Given the description of an element on the screen output the (x, y) to click on. 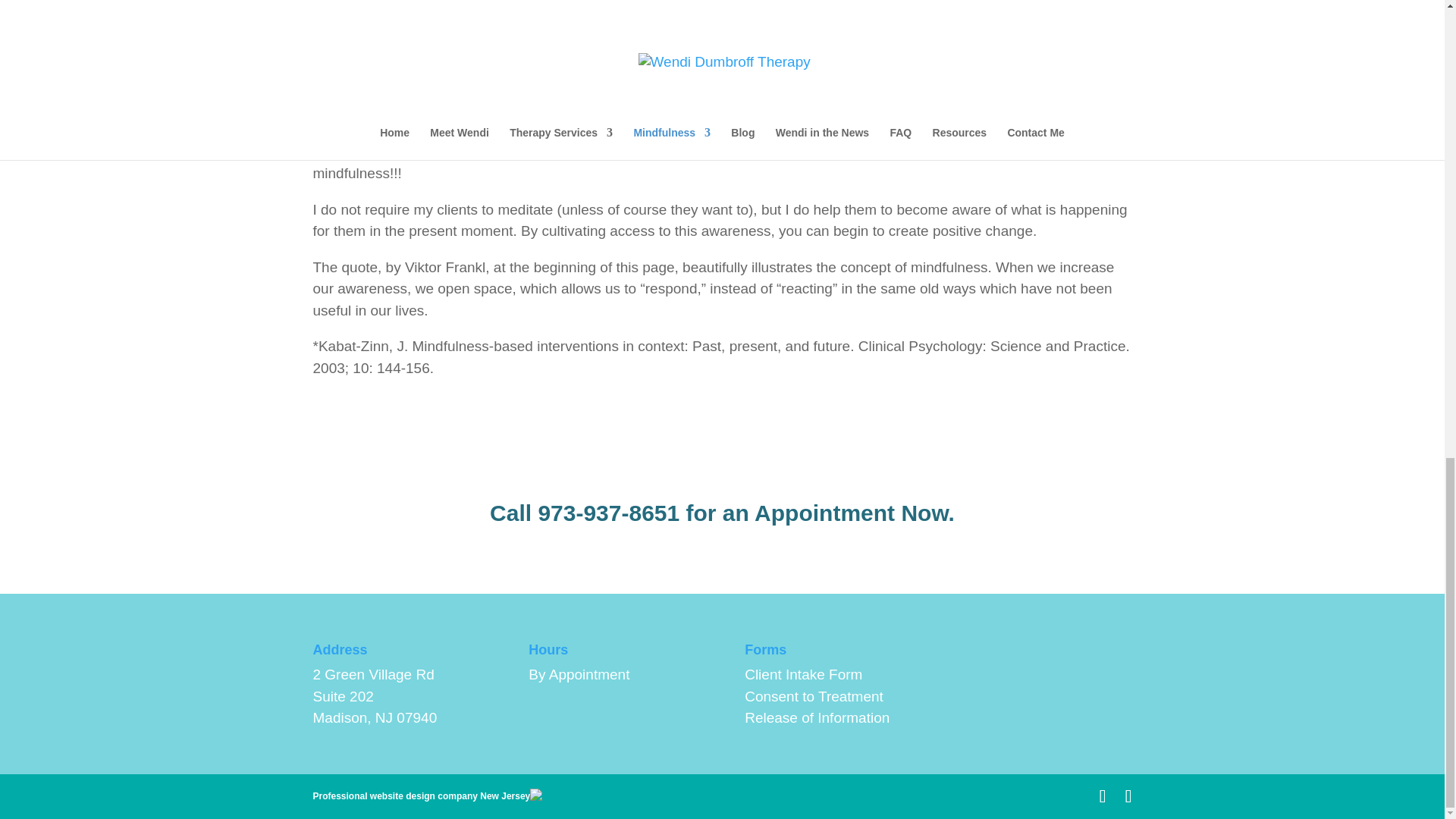
Consent to Treatment (813, 696)
Release of Information (816, 717)
Client Intake Form (802, 674)
By Appointment (578, 674)
Professional website design company New Jersey (421, 796)
